Given the description of an element on the screen output the (x, y) to click on. 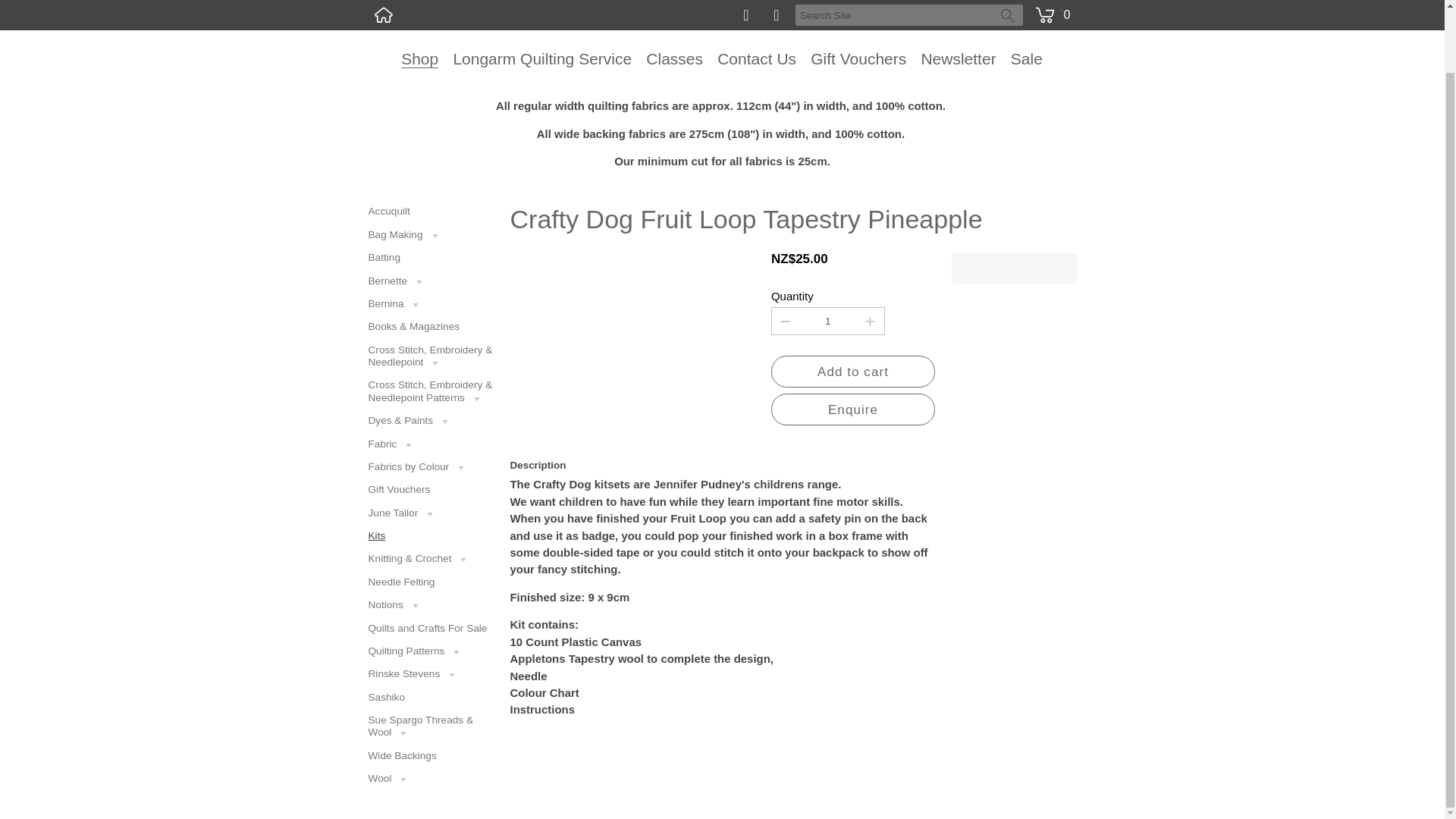
Sale (1026, 58)
Bernina      (430, 304)
Bernette      (430, 281)
Shop (419, 58)
Gift Vouchers (857, 58)
Batting (430, 257)
Enquire about this product (852, 409)
Newsletter (957, 58)
Longarm Quilting Service (541, 58)
Accuquilt (430, 211)
1 (826, 320)
Bag Making      (430, 234)
Classes (674, 58)
Contact Us (756, 58)
Fabric      (430, 444)
